Given the description of an element on the screen output the (x, y) to click on. 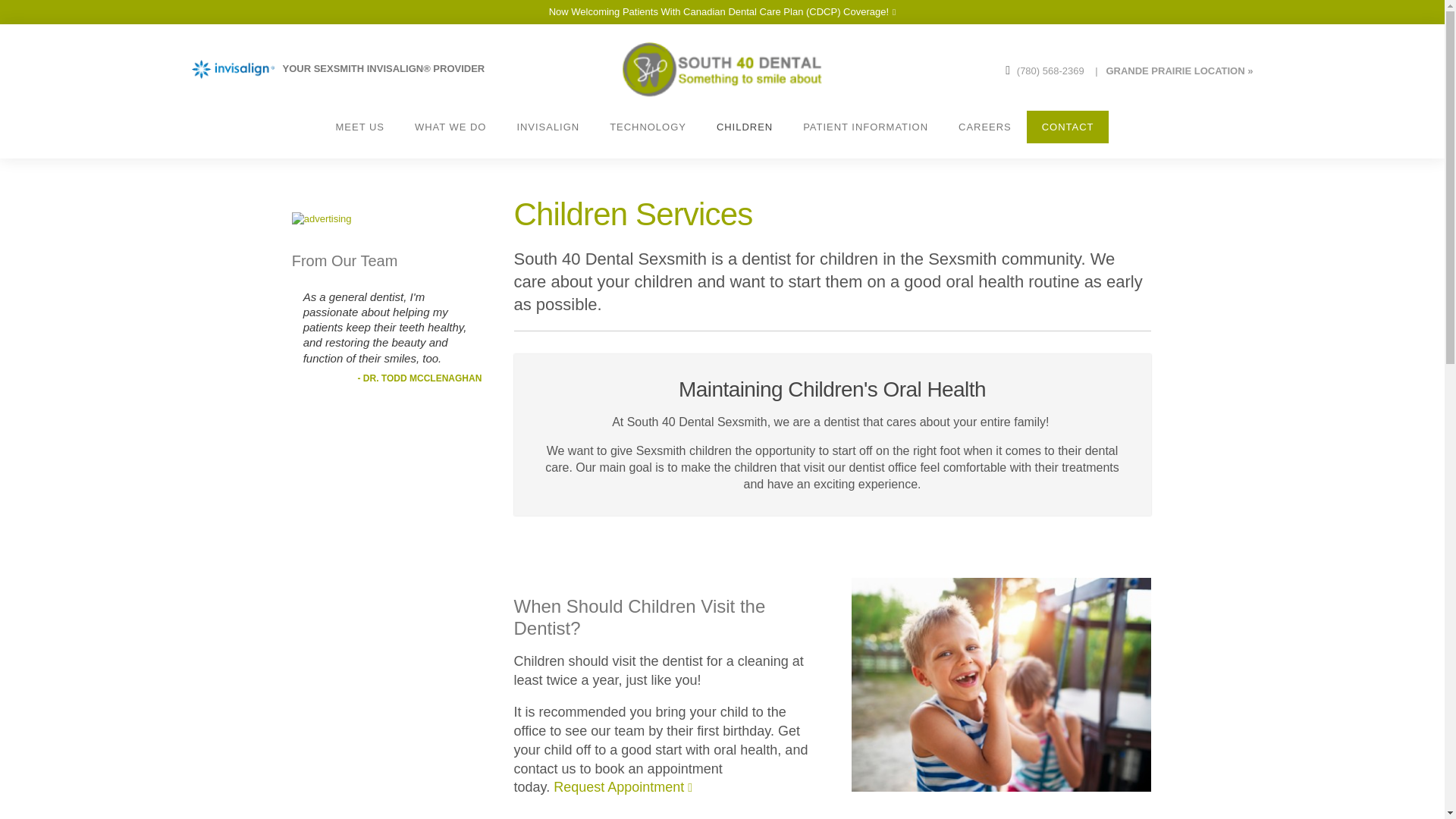
PATIENT INFORMATION (865, 126)
MEET US (359, 126)
Our Services (450, 126)
Request Appointment (623, 786)
Invisalign Clear Aligners, Sexsmith Dentist (359, 68)
WHAT WE DO (450, 126)
Careers (984, 126)
- DR. TODD MCCLENAGHAN (419, 378)
CAREERS (984, 126)
TECHNOLOGY (647, 126)
